Given the description of an element on the screen output the (x, y) to click on. 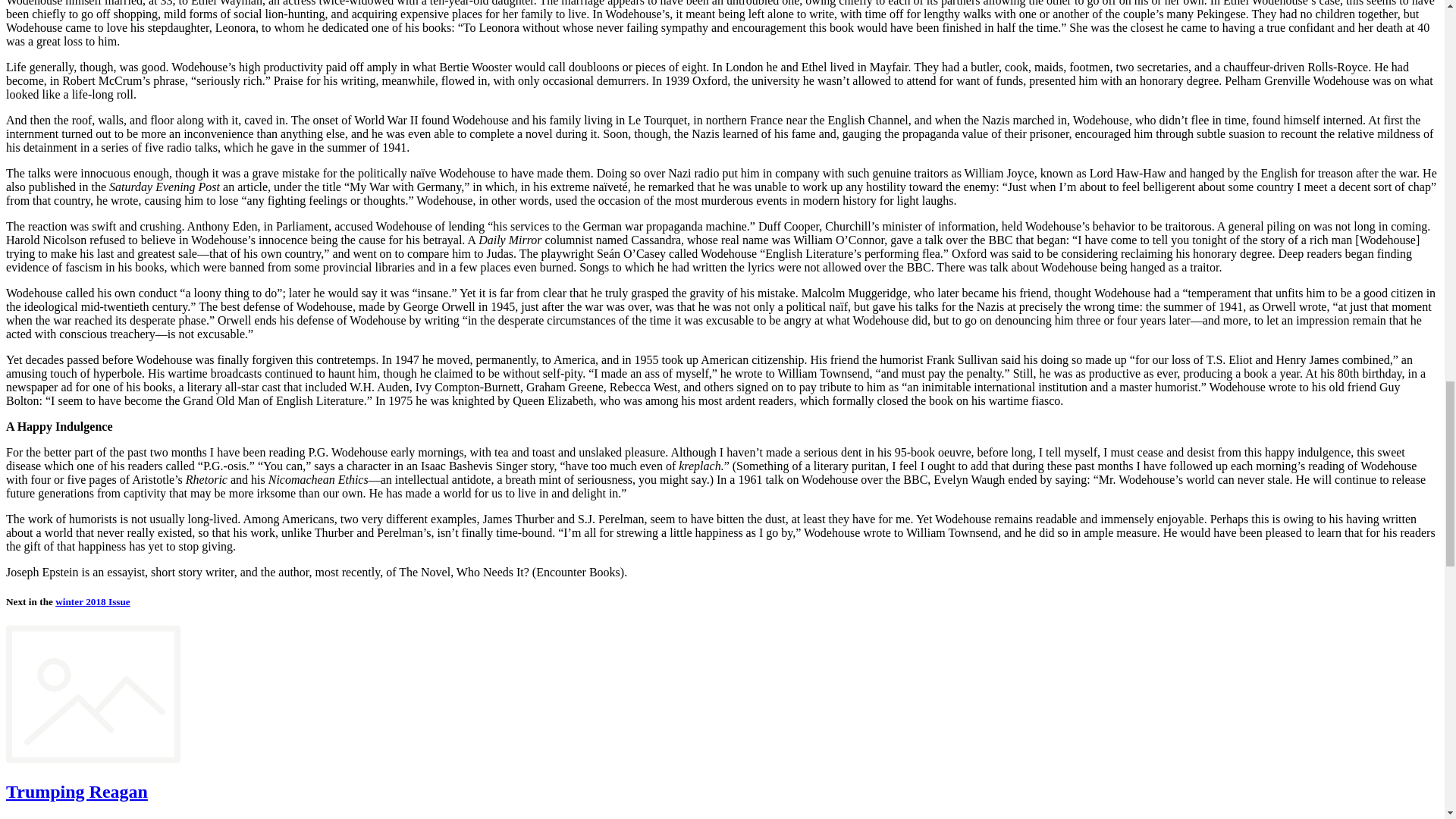
Michael A. Needham (72, 818)
winter 2018 Issue (93, 601)
Trumping Reagan (76, 791)
